Given the description of an element on the screen output the (x, y) to click on. 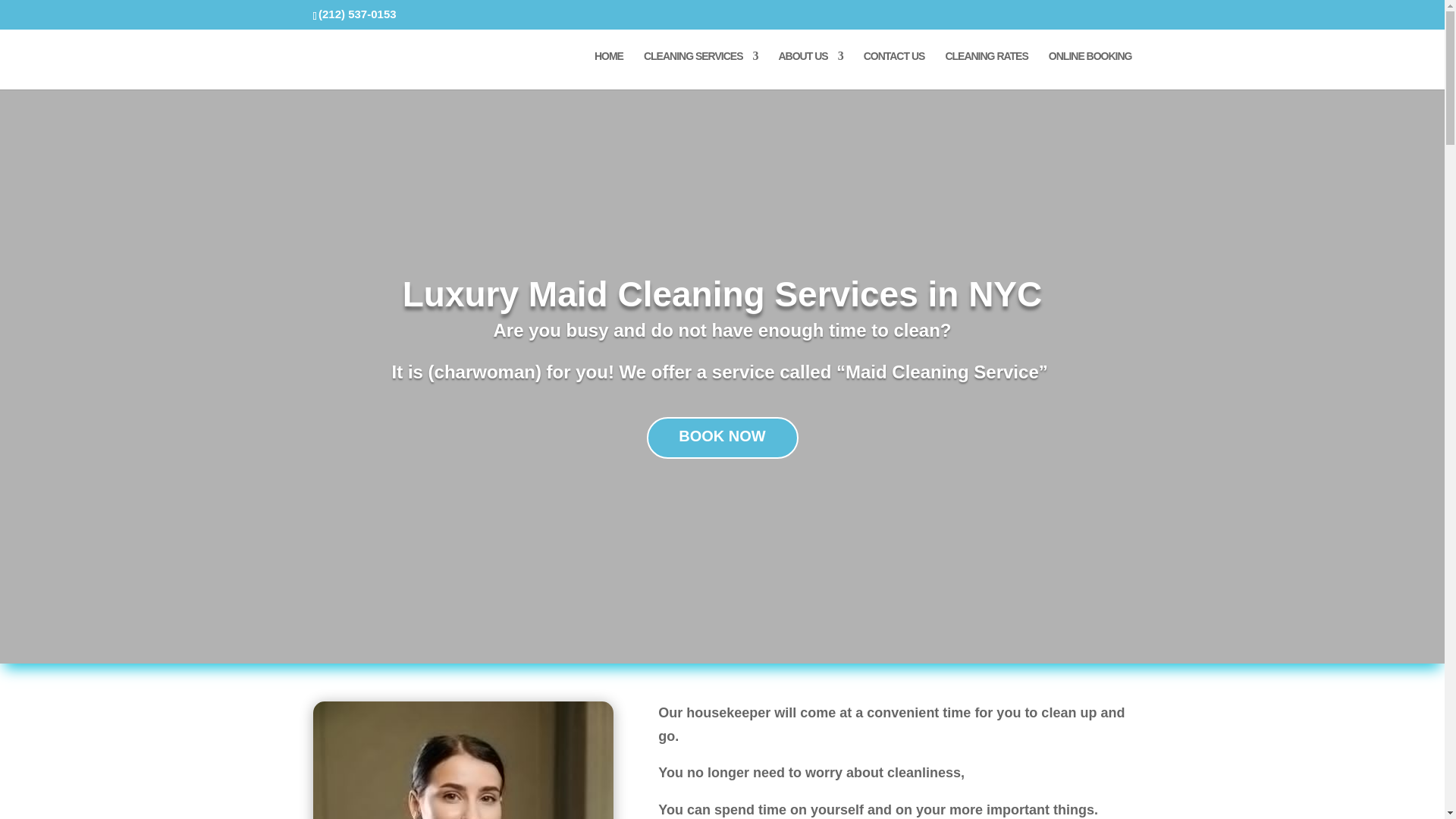
CONTACT US (893, 69)
ONLINE BOOKING (1090, 69)
ABOUT US (810, 69)
CLEANING RATES (985, 69)
CLEANING SERVICES (700, 69)
